Given the description of an element on the screen output the (x, y) to click on. 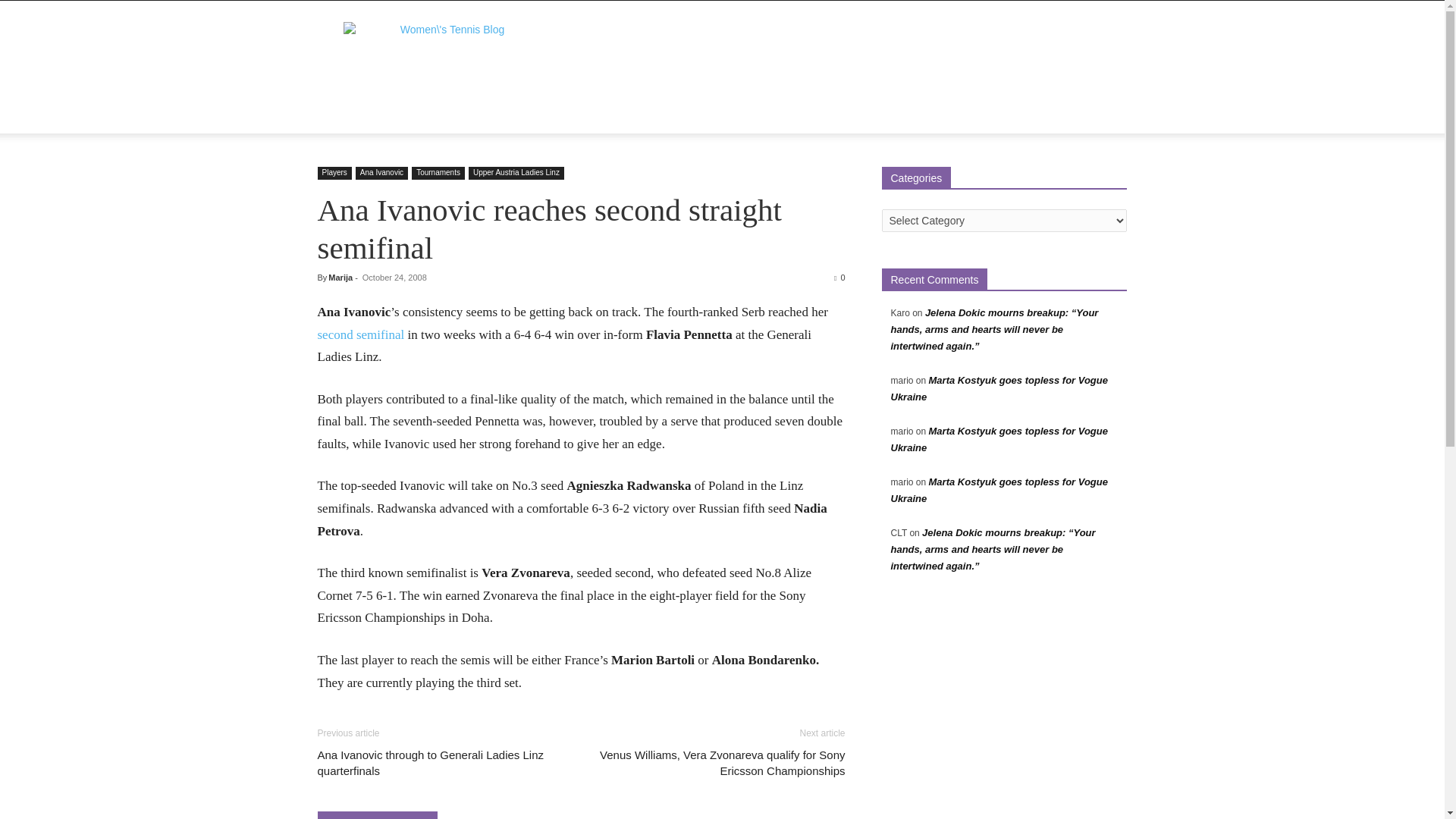
Featured (445, 115)
Twitter (1075, 115)
Facebook (1024, 115)
Search (1085, 175)
Subscribe (728, 115)
Home (341, 115)
Contact Us (659, 115)
About (389, 115)
Linkedin (1050, 115)
